Given the description of an element on the screen output the (x, y) to click on. 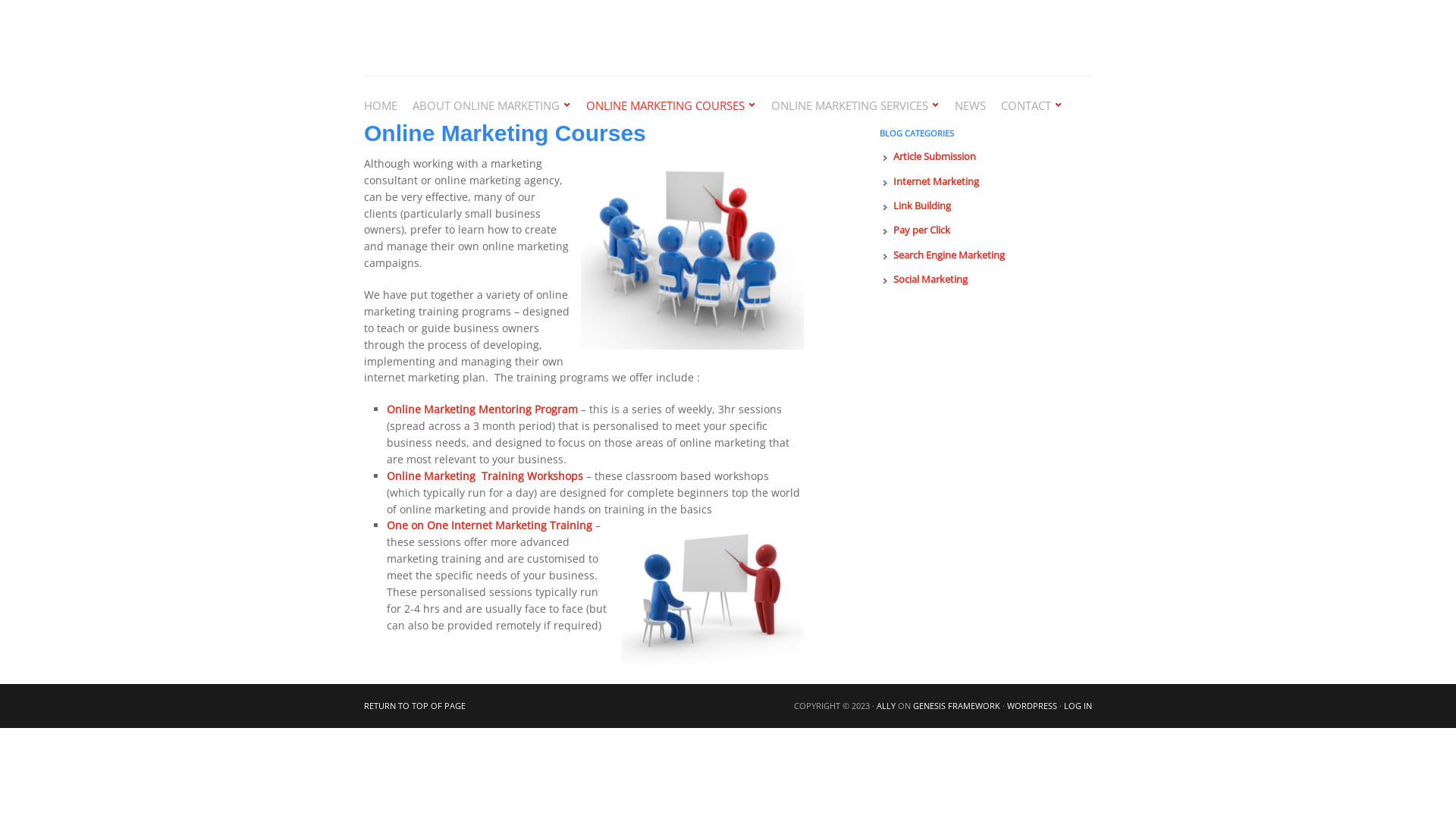
LOG IN Element type: text (1077, 705)
Social Marketing Element type: text (930, 278)
Internet Marketing Element type: text (936, 181)
Online Marketing Mentoring Program Element type: text (481, 408)
Article Submission Element type: text (934, 156)
GENESIS FRAMEWORK Element type: text (956, 705)
WORDPRESS Element type: text (1032, 705)
Pay per Click Element type: text (921, 229)
Link Building Element type: text (921, 205)
Search Engine Marketing Element type: text (948, 254)
RETURN TO TOP OF PAGE Element type: text (414, 705)
ALLY Element type: text (885, 705)
One on One Internet Marketing Training Element type: text (489, 524)
HOME Element type: text (388, 105)
Online Marketing  Training Workshops Element type: text (484, 475)
NEWS Element type: text (977, 105)
ONLINE MARKETING - Australia Element type: text (515, 37)
